Given the description of an element on the screen output the (x, y) to click on. 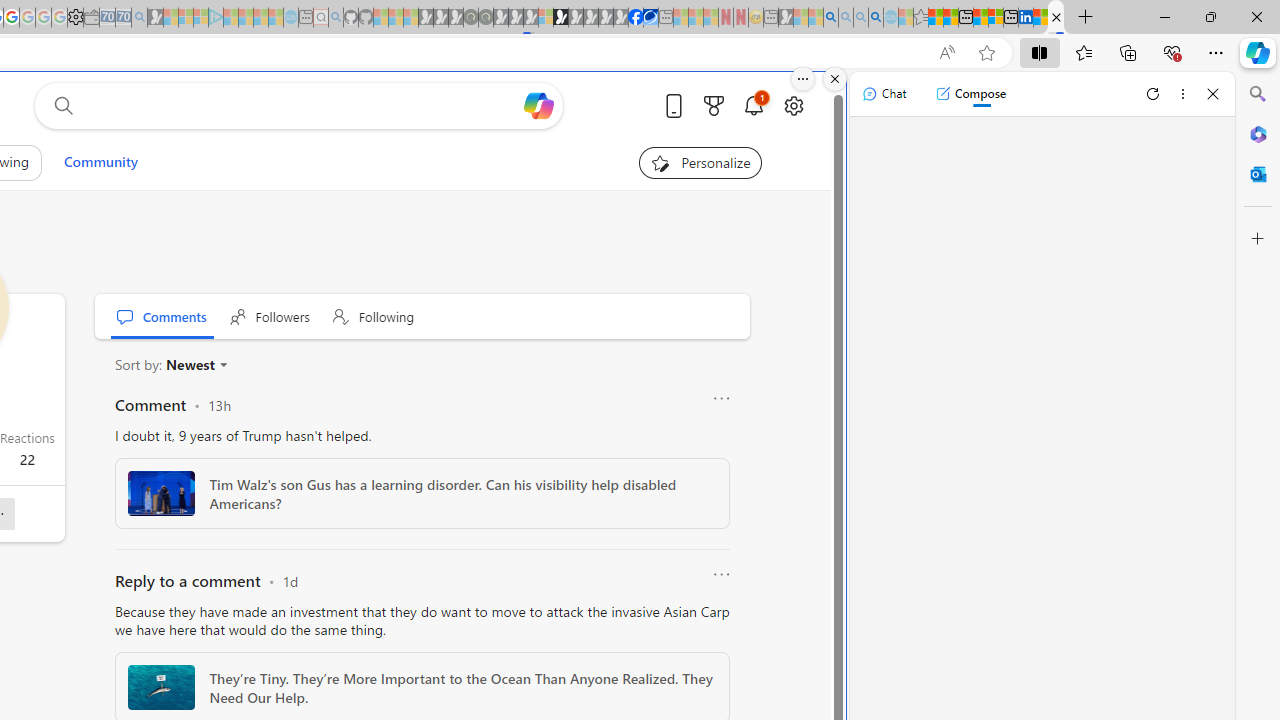
Personalize your feed" (699, 162)
